Given the description of an element on the screen output the (x, y) to click on. 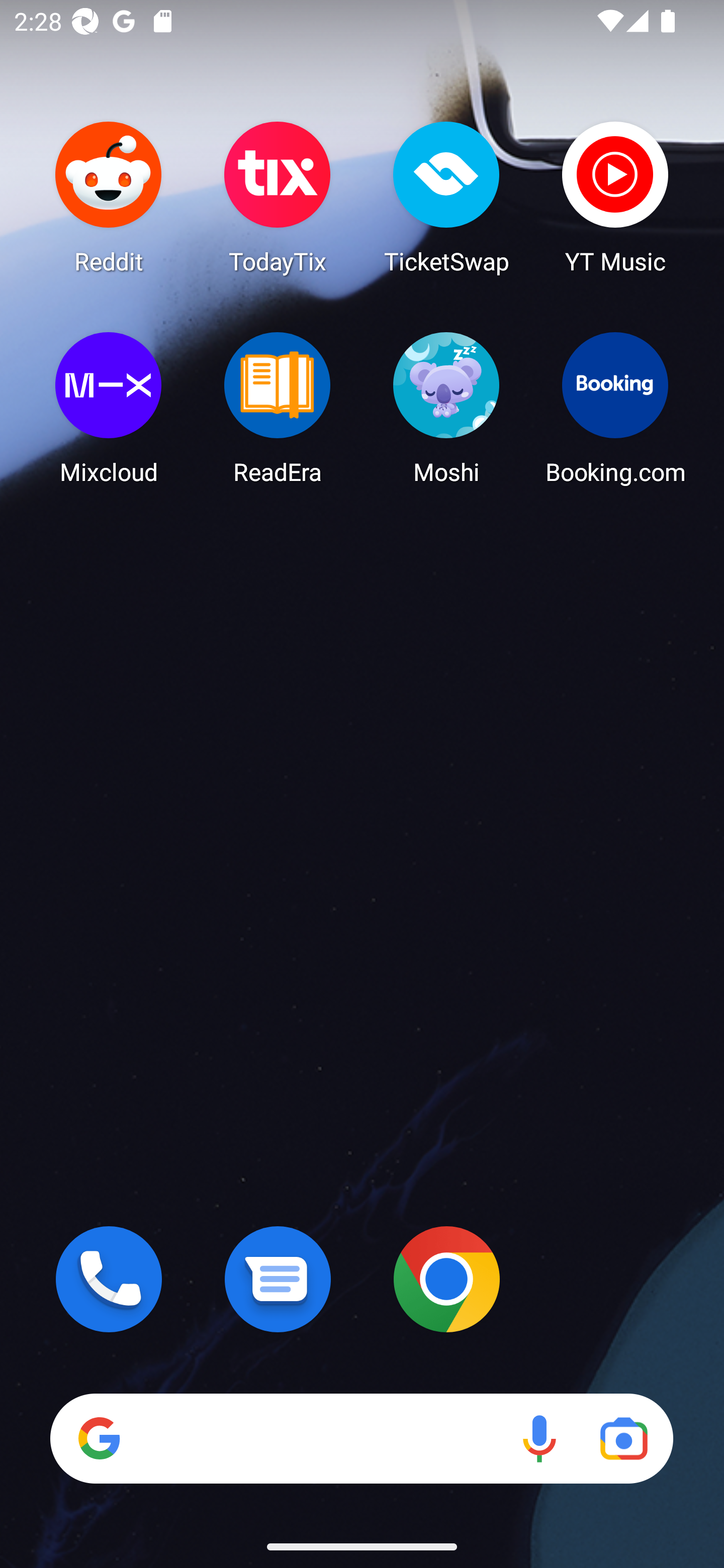
Reddit (108, 196)
TodayTix (277, 196)
TicketSwap (445, 196)
YT Music (615, 196)
Mixcloud (108, 407)
ReadEra (277, 407)
Moshi (445, 407)
Booking.com (615, 407)
Phone (108, 1279)
Messages (277, 1279)
Chrome (446, 1279)
Search Voice search Google Lens (361, 1438)
Voice search (539, 1438)
Google Lens (623, 1438)
